Given the description of an element on the screen output the (x, y) to click on. 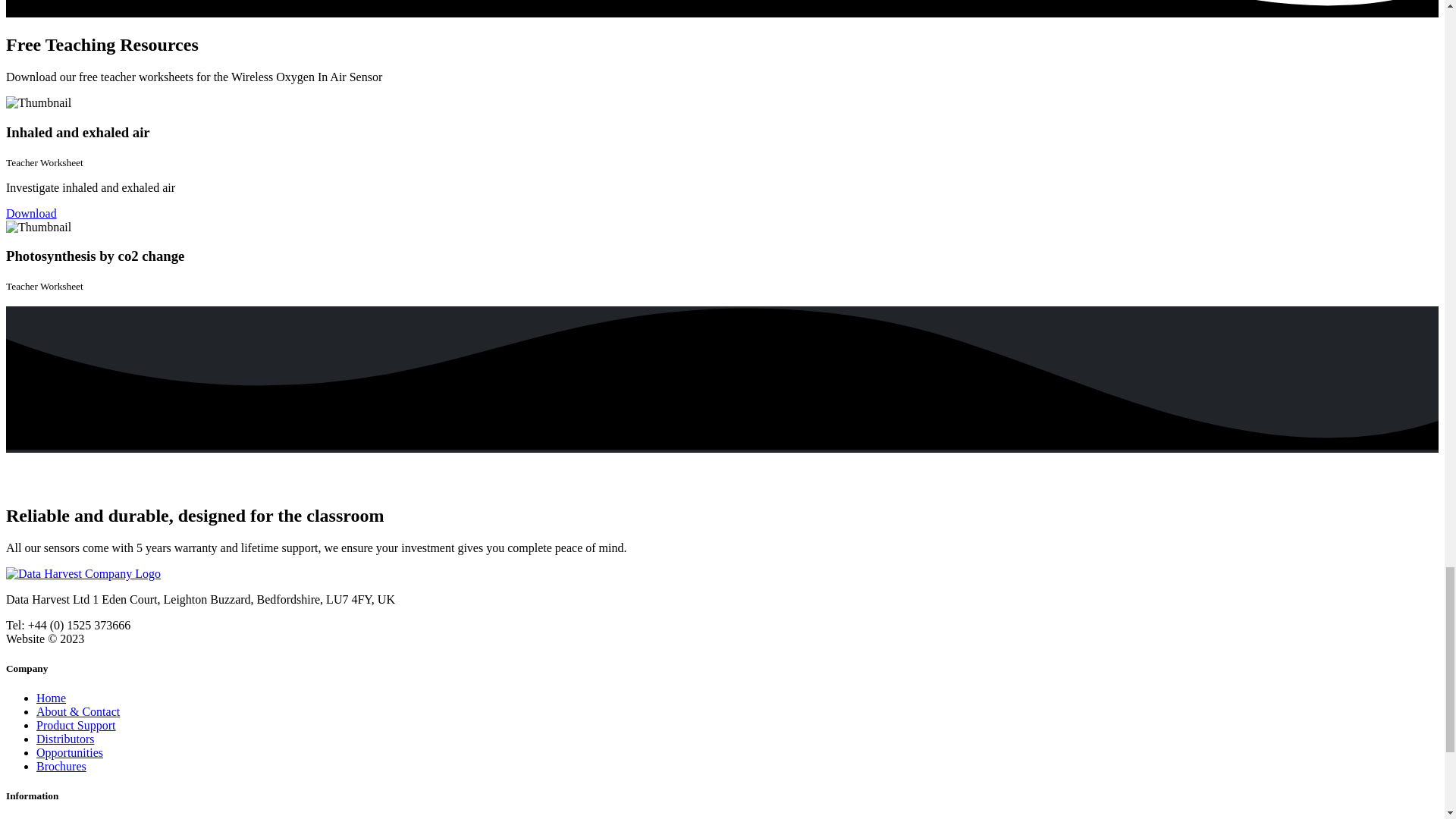
Data Harvest Company Logo (82, 573)
